Given the description of an element on the screen output the (x, y) to click on. 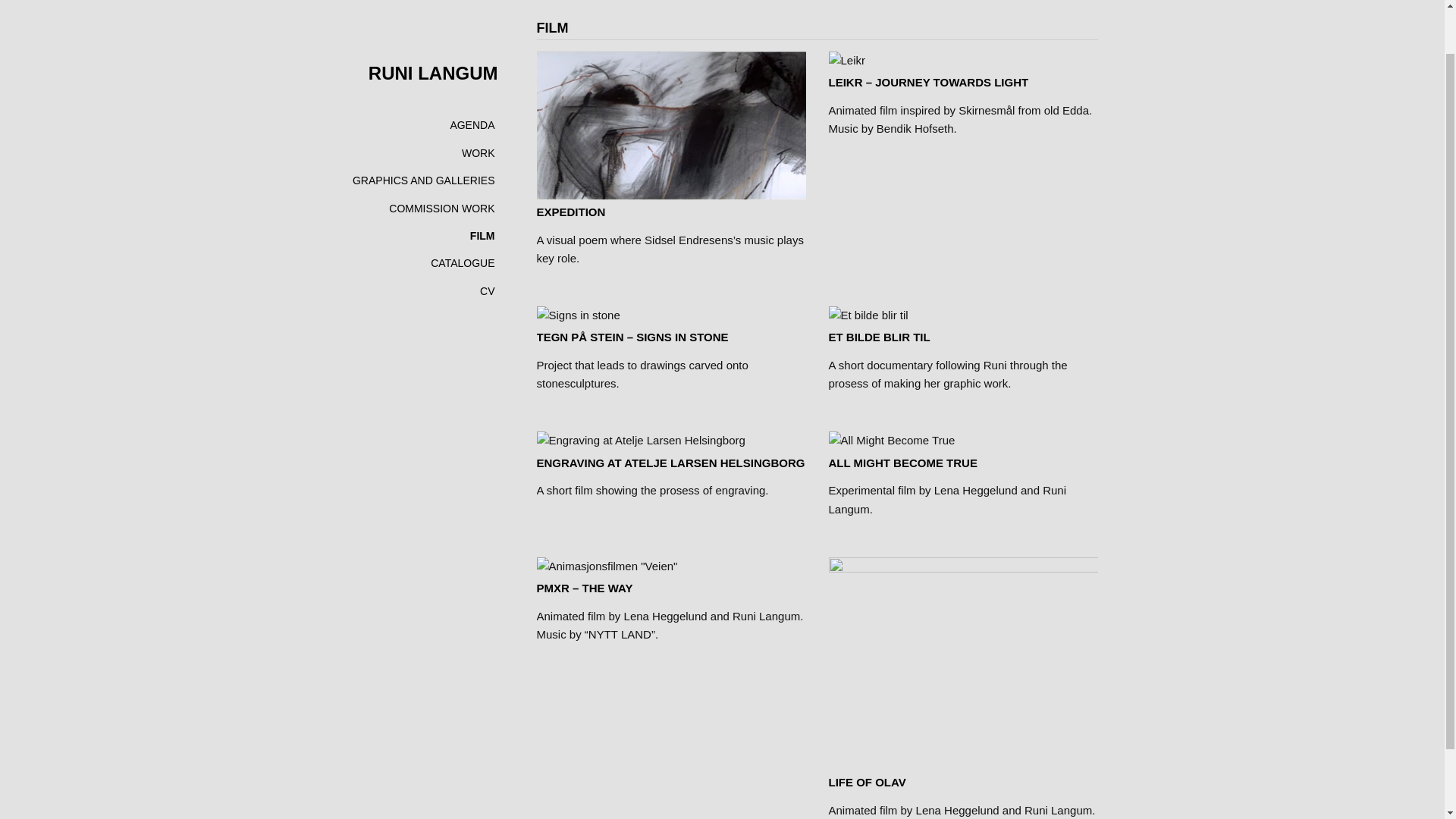
ET BILDE BLIR TIL (879, 336)
CATALOGUE (462, 212)
LIFE OF OLAV (866, 781)
GRAPHICS AND GALLERIES (423, 129)
AGENDA (472, 73)
COMMISSION WORK (441, 157)
EXPEDITION (571, 211)
WORK (478, 102)
RUNI LANGUM (432, 22)
ENGRAVING AT ATELJE LARSEN HELSINGBORG (671, 462)
FILM (482, 185)
ALL MIGHT BECOME TRUE (902, 462)
